Given the description of an element on the screen output the (x, y) to click on. 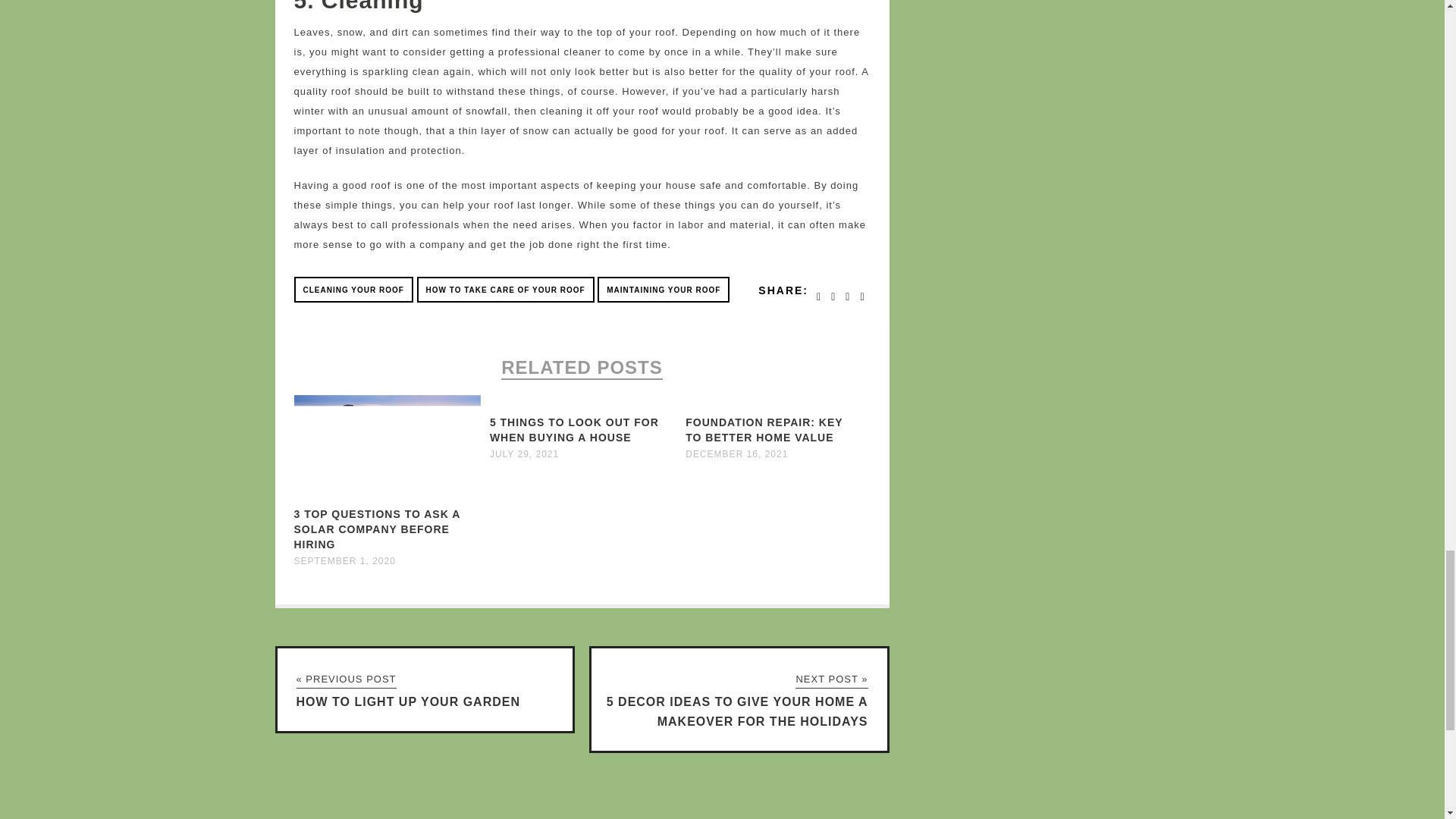
MAINTAINING YOUR ROOF (662, 289)
CLEANING YOUR ROOF (353, 289)
HOW TO TAKE CARE OF YOUR ROOF (505, 289)
SEPTEMBER 1, 2020 (345, 561)
3 TOP QUESTIONS TO ASK A SOLAR COMPANY BEFORE HIRING (377, 528)
